Given the description of an element on the screen output the (x, y) to click on. 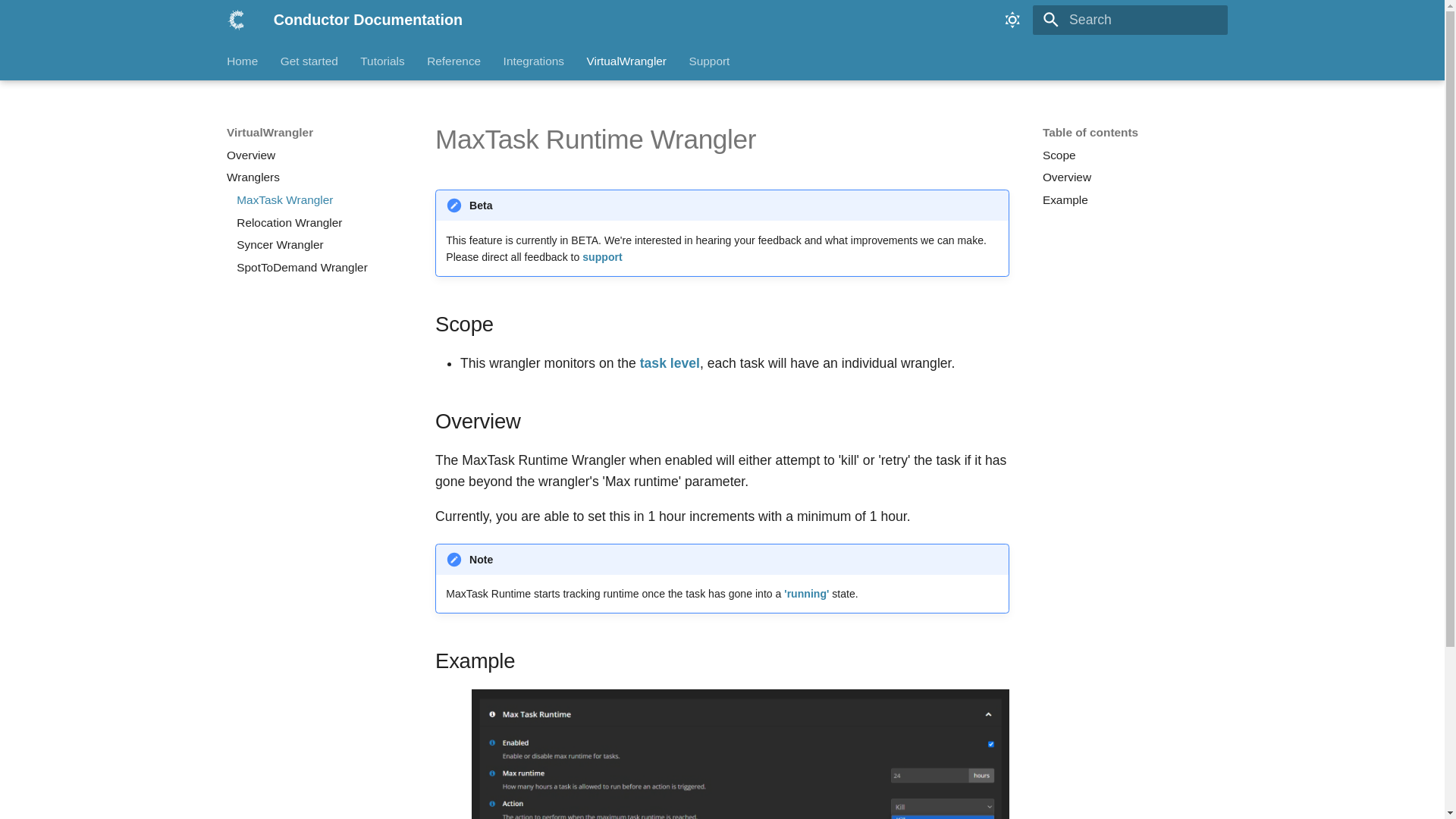
Tutorials (381, 60)
Conductor Documentation (236, 19)
Switch to dark mode (1012, 19)
Home (242, 60)
Support (708, 60)
Get started (309, 60)
VirtualWrangler (626, 60)
Integrations (533, 60)
Reference (453, 60)
